Given the description of an element on the screen output the (x, y) to click on. 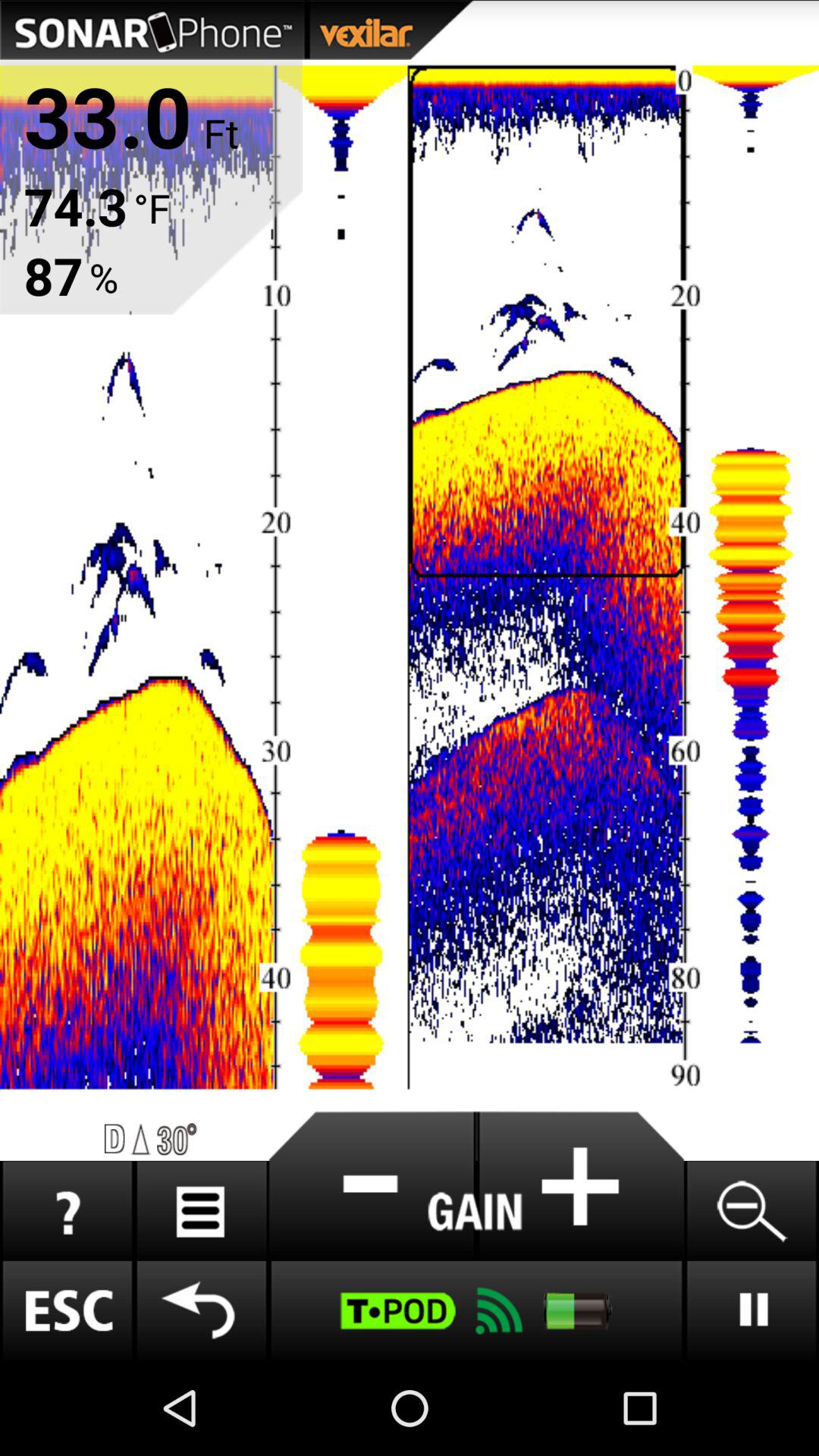
help (67, 1210)
